Given the description of an element on the screen output the (x, y) to click on. 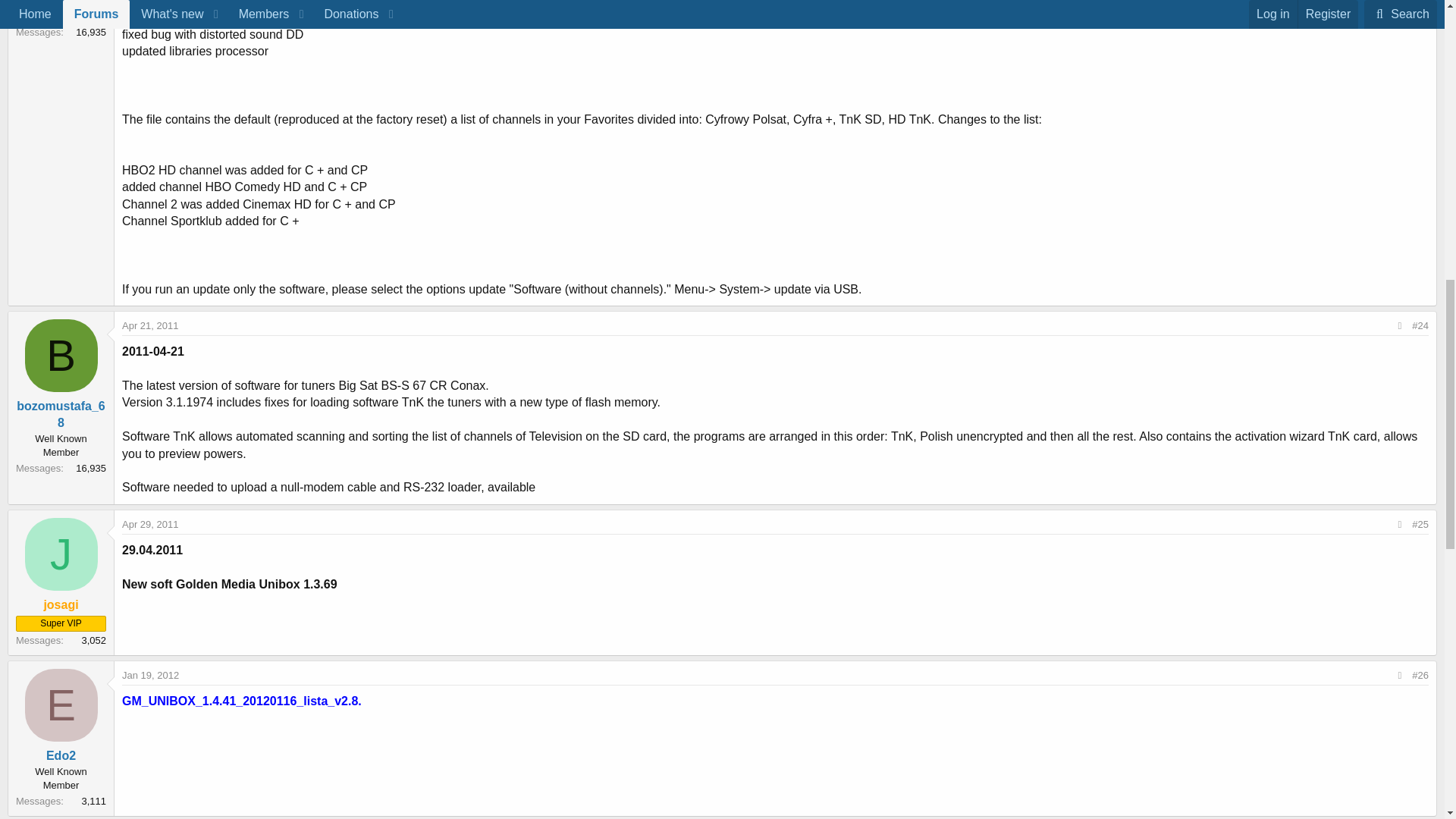
Apr 29, 2011 at 20:16 (149, 523)
Apr 21, 2011 at 20:58 (149, 325)
Jan 19, 2012 at 20:46 (150, 674)
